Given the description of an element on the screen output the (x, y) to click on. 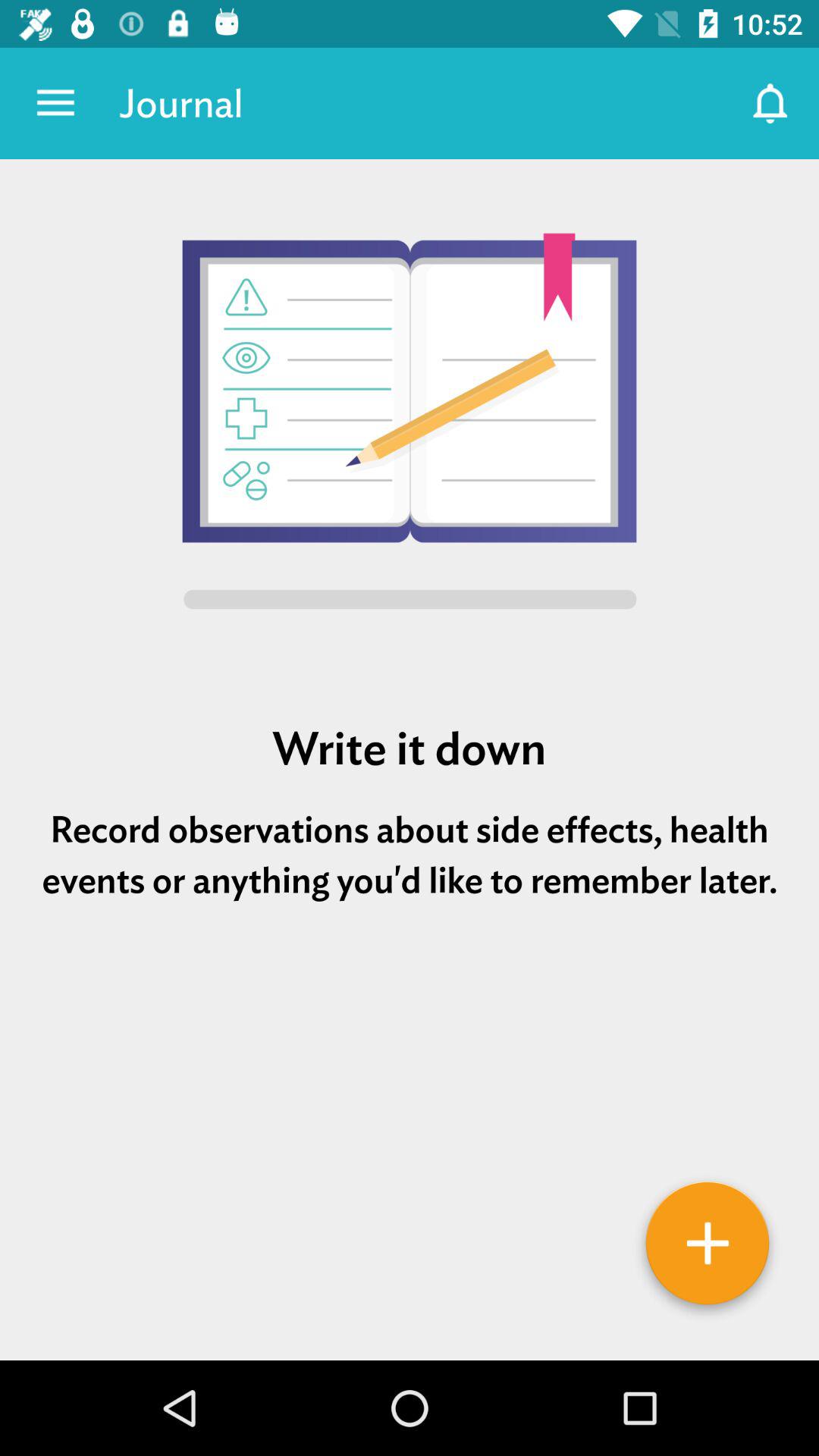
turn on the icon above write it down (409, 423)
